Given the description of an element on the screen output the (x, y) to click on. 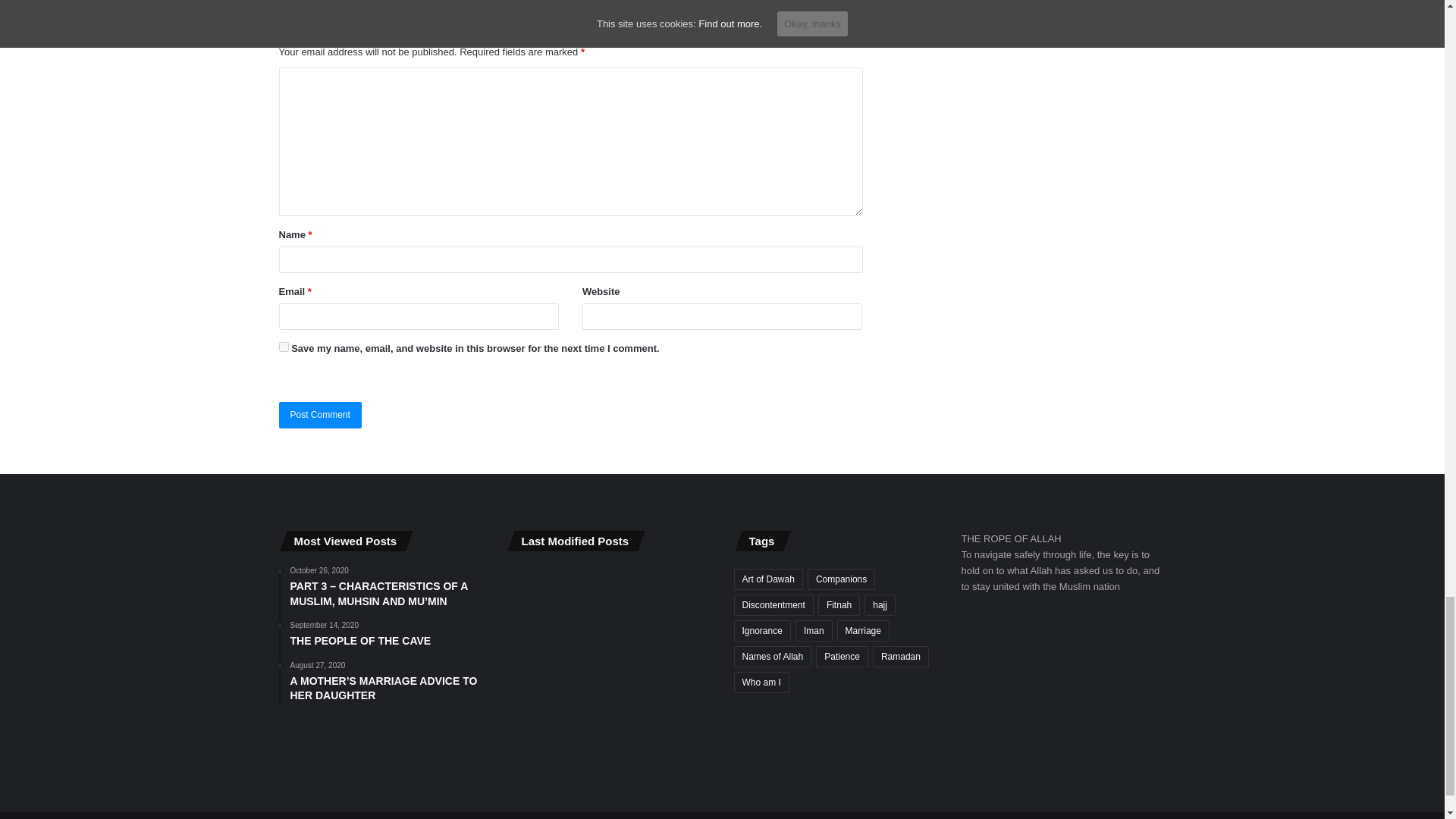
Post Comment (320, 415)
yes (283, 347)
